Given the description of an element on the screen output the (x, y) to click on. 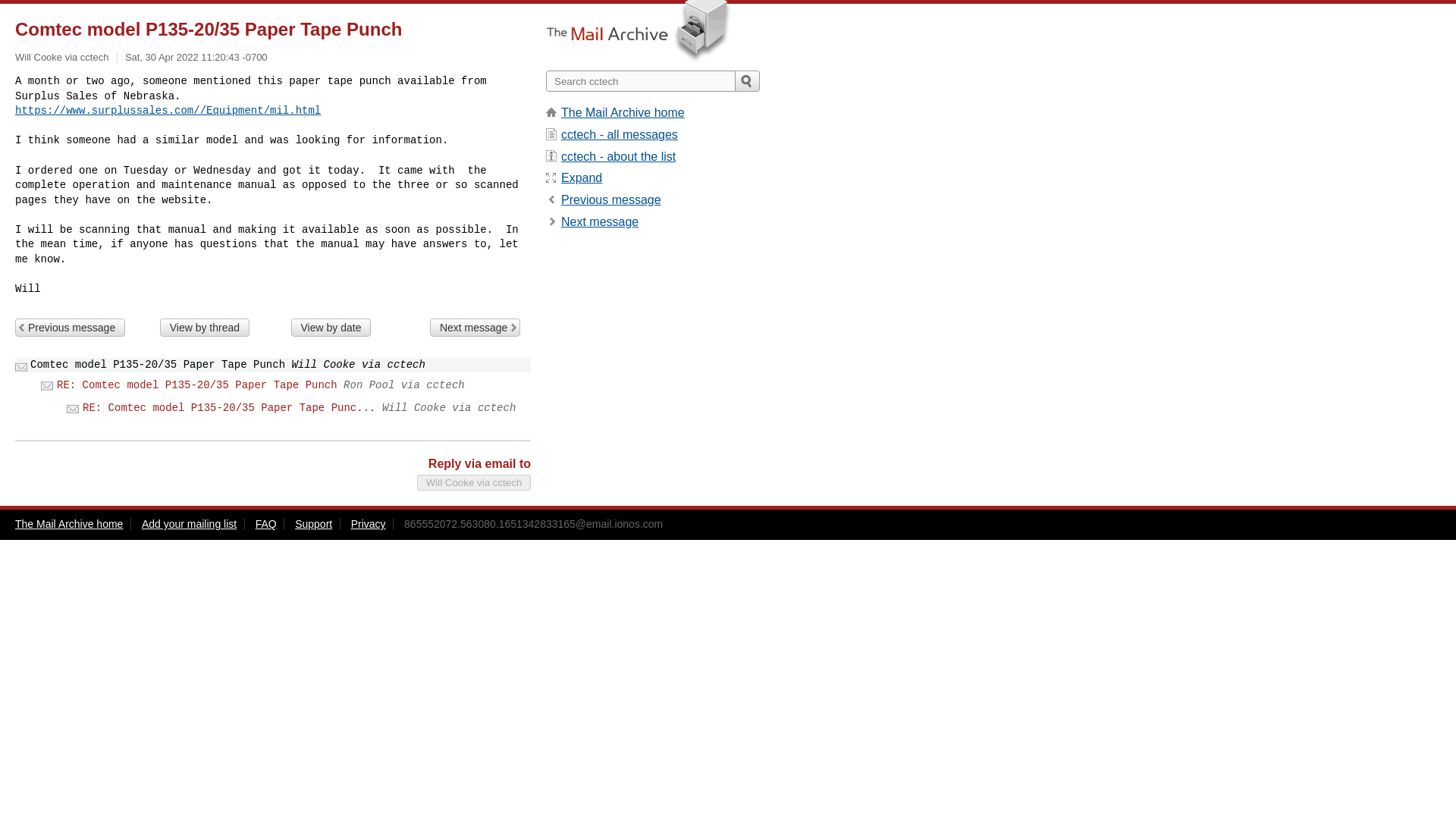
Next message (599, 221)
e (581, 177)
Next message (474, 327)
The Mail Archive home (68, 523)
Sat, 30 Apr 2022 11:20:43 -0700 (196, 57)
cctech - about the list (617, 155)
p (610, 199)
Privacy (367, 523)
View by date (331, 327)
Previous message (610, 199)
Will Cooke via cctech (60, 57)
Add your mailing list (188, 523)
Expand (581, 177)
 Will Cooke via cctech  (473, 482)
n (599, 221)
